Given the description of an element on the screen output the (x, y) to click on. 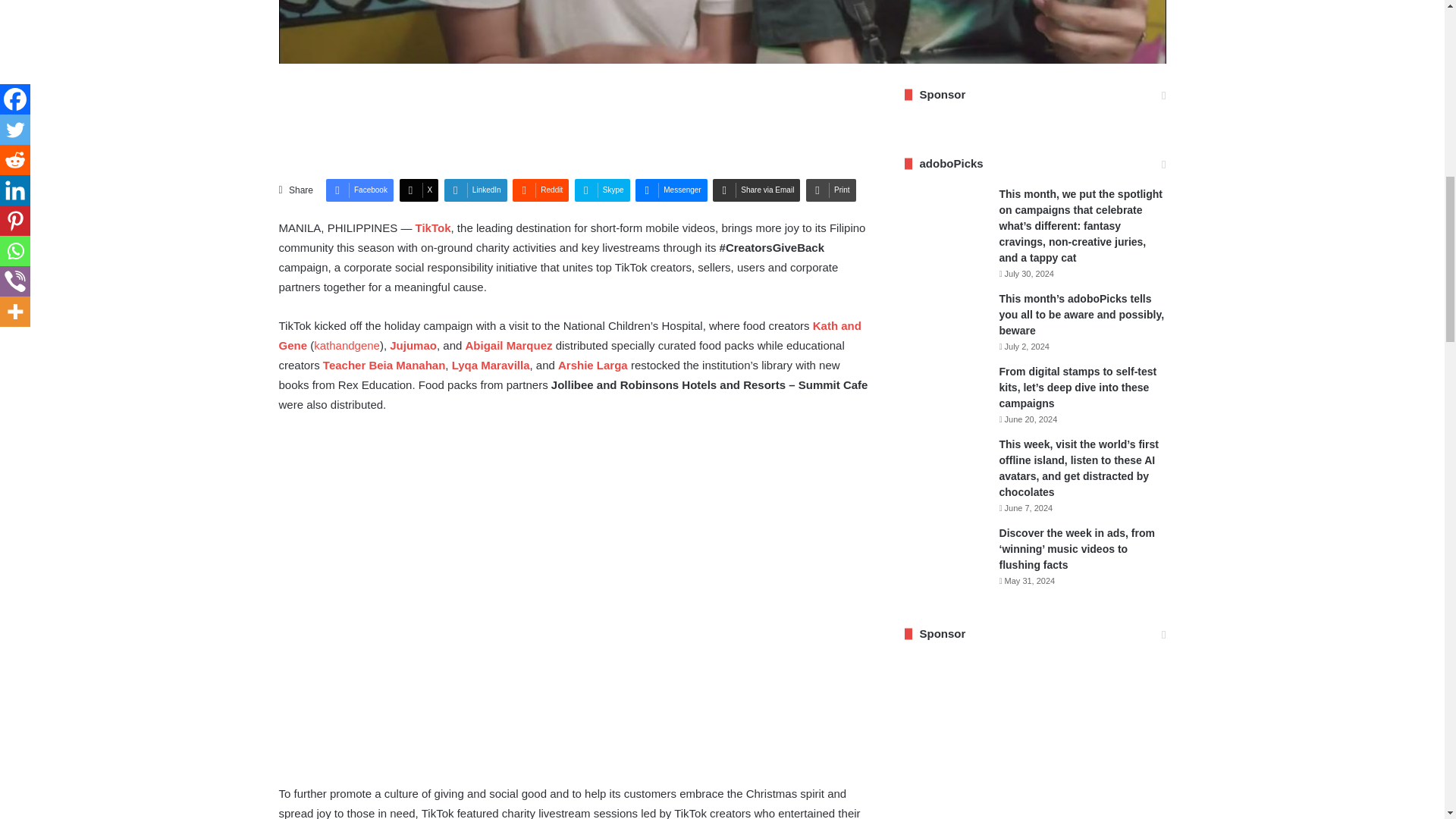
Skype (602, 190)
Reddit (540, 190)
Messenger (670, 190)
LinkedIn (475, 190)
Facebook (359, 190)
Share via Email (756, 190)
X (418, 190)
